Given the description of an element on the screen output the (x, y) to click on. 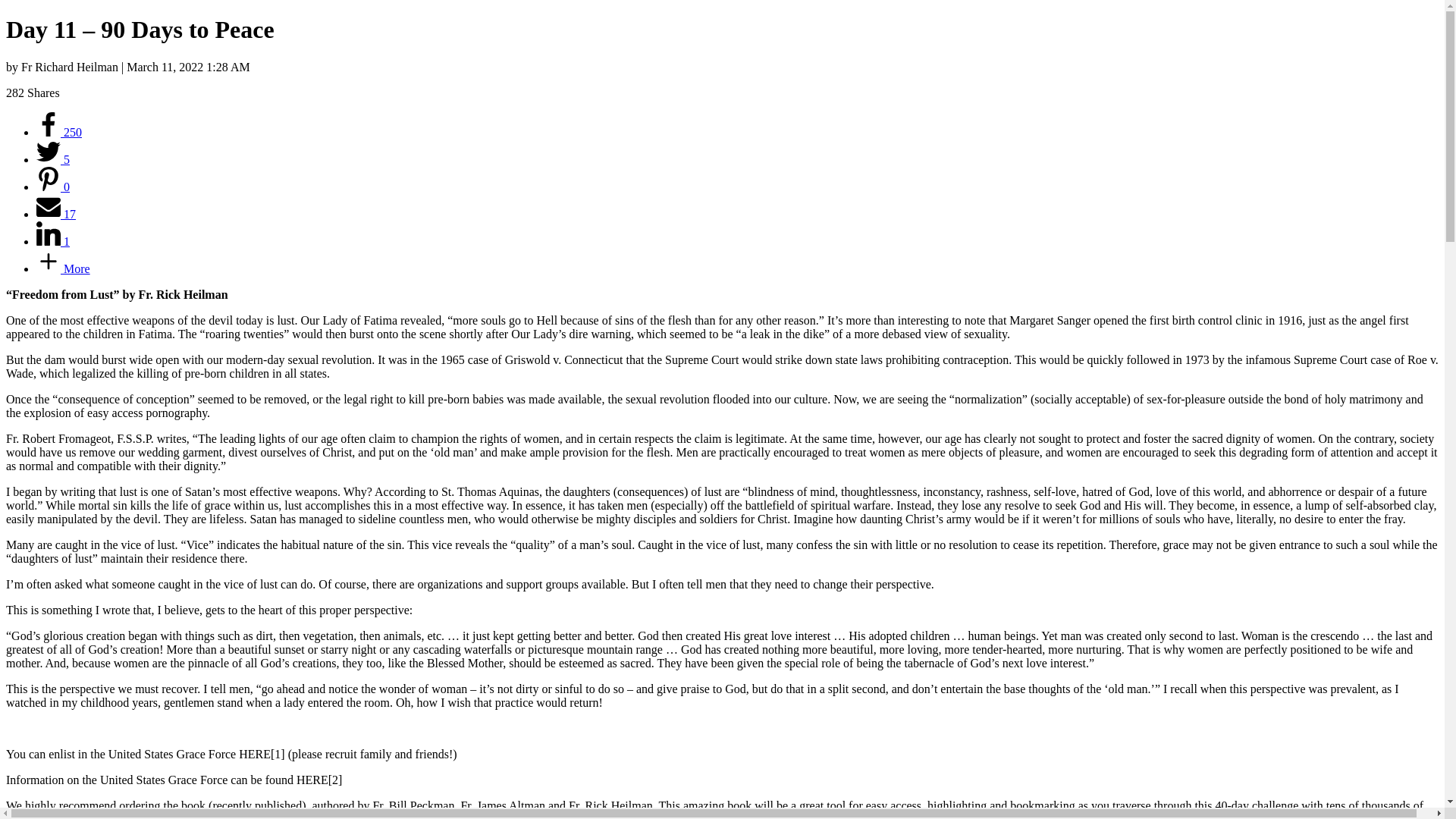
0 (52, 186)
More (63, 268)
1 (52, 241)
250 (58, 132)
17 (55, 214)
5 (52, 159)
